Given the description of an element on the screen output the (x, y) to click on. 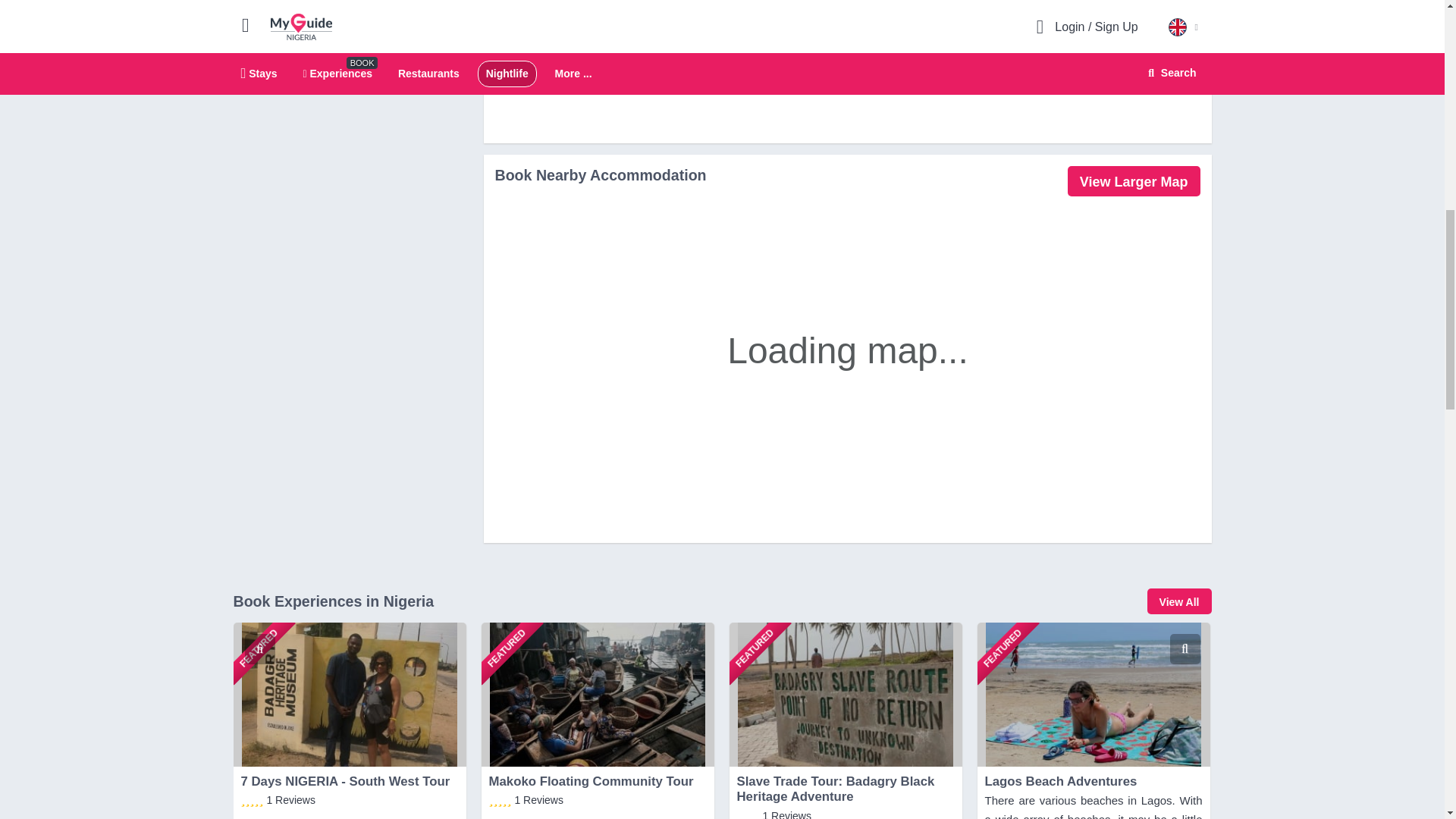
Larger Map for Company: Adrenaline Sports Bar Nigeria (1156, 8)
Larger Map for Company: Adrenaline Sports Bar Nigeria (1133, 181)
